Given the description of an element on the screen output the (x, y) to click on. 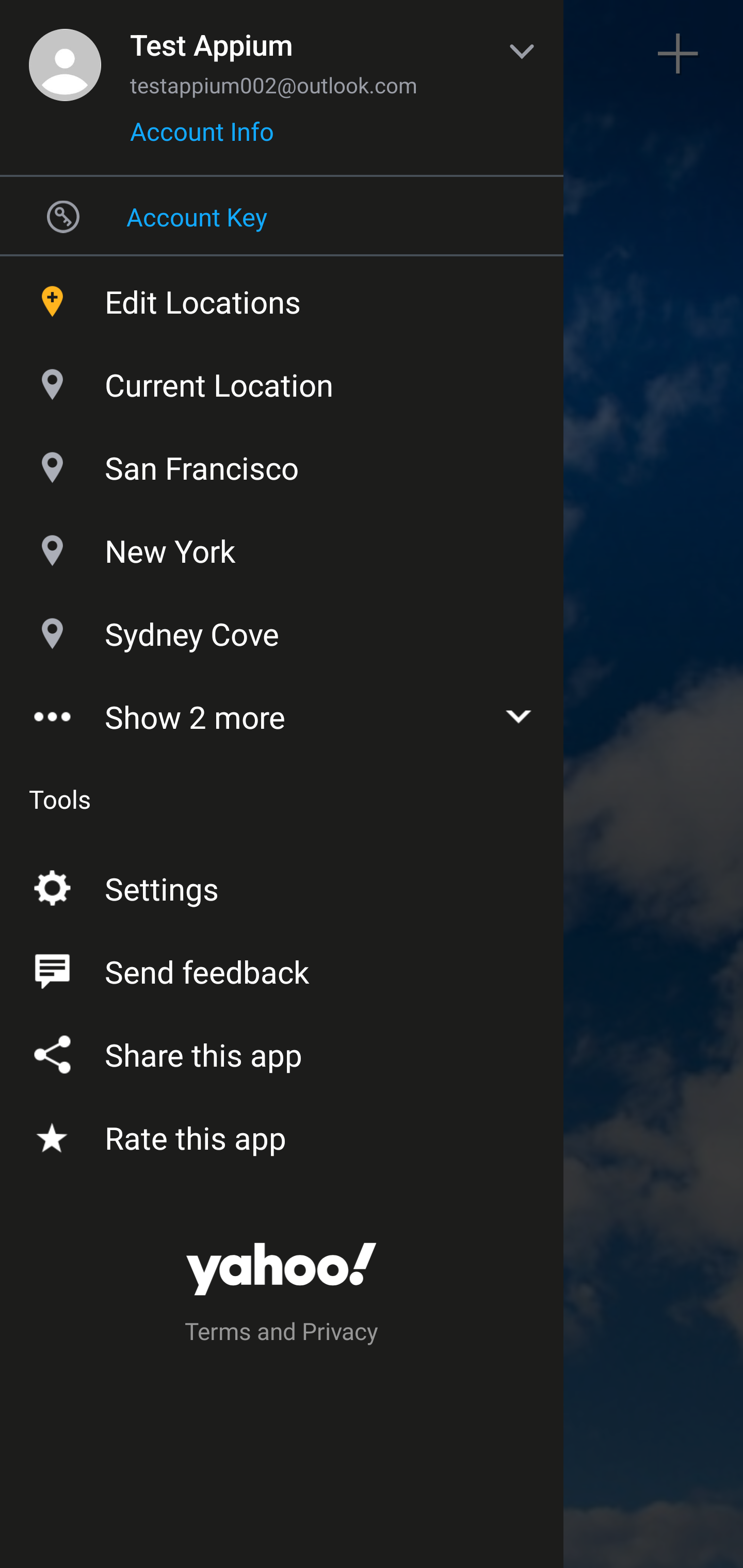
Sidebar (64, 54)
Account Info (202, 137)
Account Key (281, 216)
Edit Locations (281, 296)
Current Location (281, 379)
San Francisco (281, 462)
New York (281, 546)
Sydney Cove (281, 629)
Settings (281, 884)
Send feedback (281, 967)
Share this app (281, 1050)
Terms and Privacy Terms and privacy button (281, 1334)
